Given the description of an element on the screen output the (x, y) to click on. 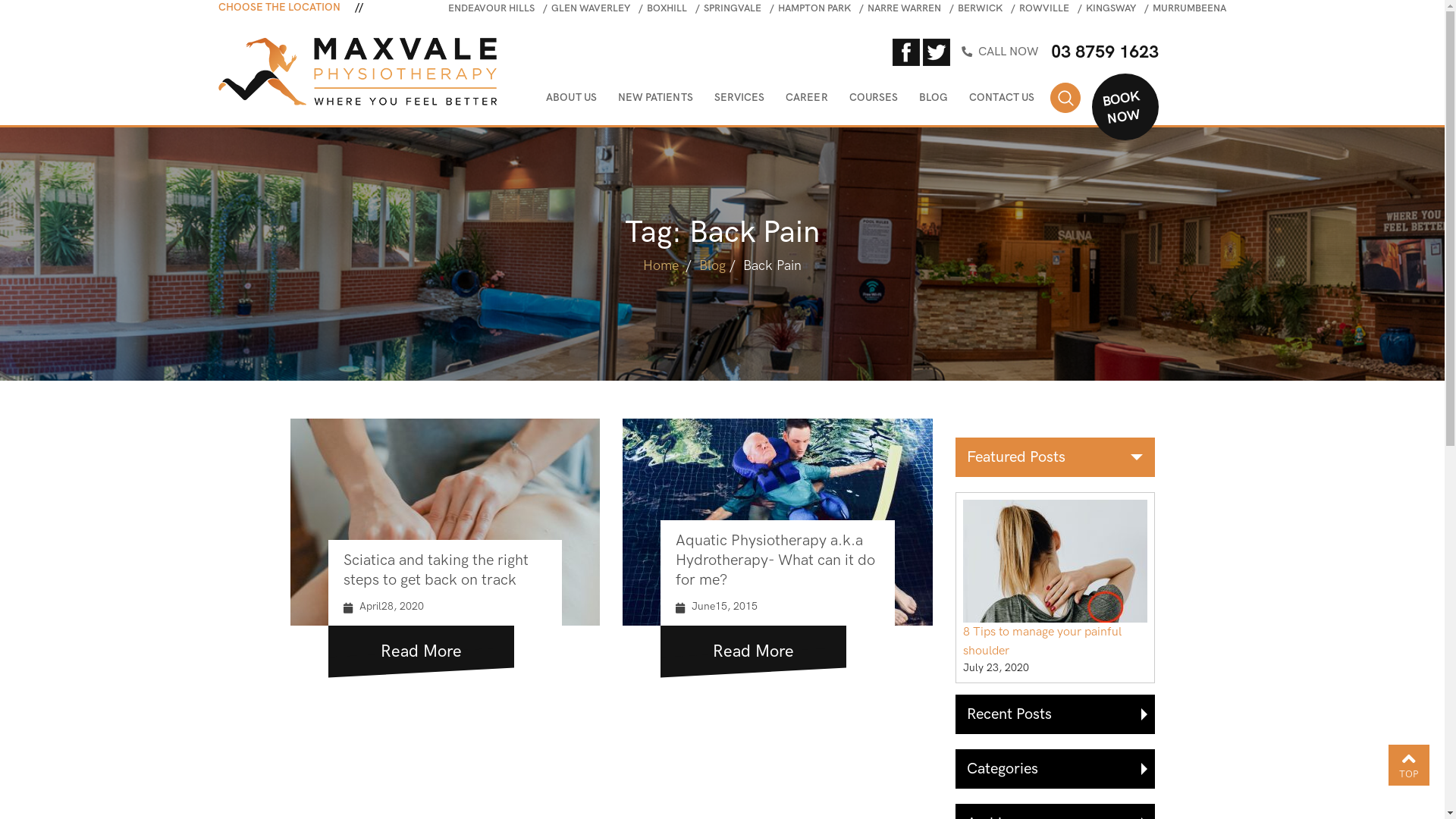
CAREER Element type: text (806, 100)
Blog Element type: text (712, 265)
NEW PATIENTS Element type: text (655, 100)
CALL NOW 03 8759 1623 Element type: text (1085, 50)
GLEN WAVERLEY Element type: text (590, 7)
BOOK NOW Element type: text (1116, 101)
Read More Element type: text (420, 645)
CHOOSE THE LOCATION Element type: text (290, 7)
BERWICK Element type: text (979, 7)
COURSES Element type: text (873, 100)
ENDEAVOUR HILLS Element type: text (491, 7)
Categories Element type: text (1054, 768)
Featured Posts Element type: text (1054, 456)
ABOUT US Element type: text (571, 100)
8 Tips to manage your painful shoulder
July 23, 2020 Element type: text (1055, 587)
KINGSWAY Element type: text (1110, 7)
BOXHILL Element type: text (666, 7)
Home Element type: text (660, 265)
Maxvale Physiotherapy Element type: hover (357, 70)
SERVICES Element type: text (739, 100)
Sciatica and taking the right steps to get back on track Element type: text (434, 570)
CONTACT US Element type: text (1001, 100)
Read More Element type: text (753, 645)
SPRINGVALE Element type: text (732, 7)
Search Element type: hover (1065, 97)
ROWVILLE Element type: text (1044, 7)
NARRE WARREN Element type: text (904, 7)
April 28, 2020 Element type: text (871, 587)
MURRUMBEENA Element type: text (1189, 7)
BLOG Element type: text (933, 100)
Recent Posts Element type: text (1054, 714)
HAMPTON PARK Element type: text (814, 7)
